Given the description of an element on the screen output the (x, y) to click on. 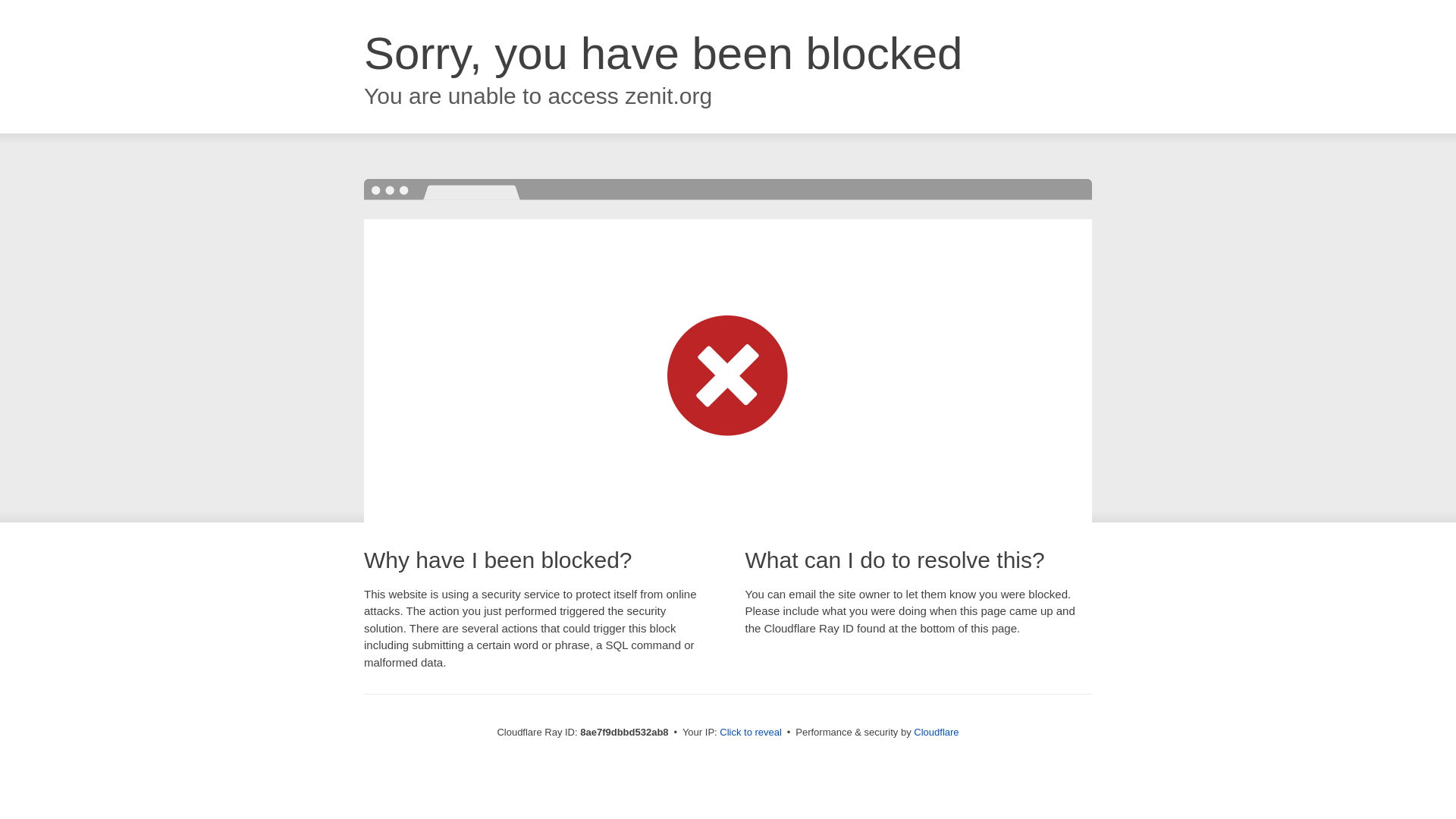
Click to reveal (750, 732)
Cloudflare (936, 731)
